Given the description of an element on the screen output the (x, y) to click on. 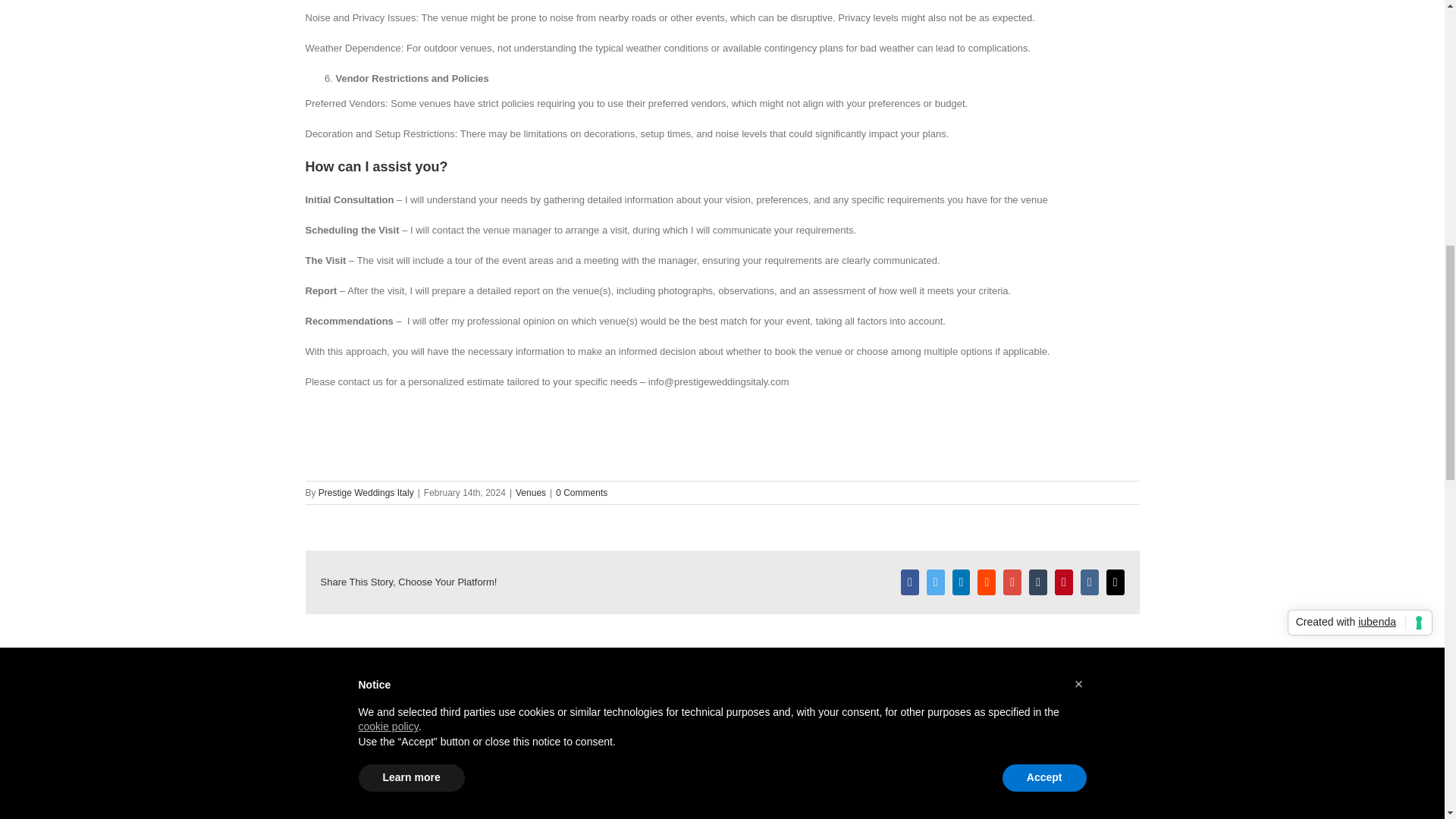
Prestige Weddings Italy (485, 665)
Venues (530, 492)
Posts by Prestige Weddings Italy (365, 492)
Prestige Weddings Italy (365, 492)
0 Comments (581, 492)
